Given the description of an element on the screen output the (x, y) to click on. 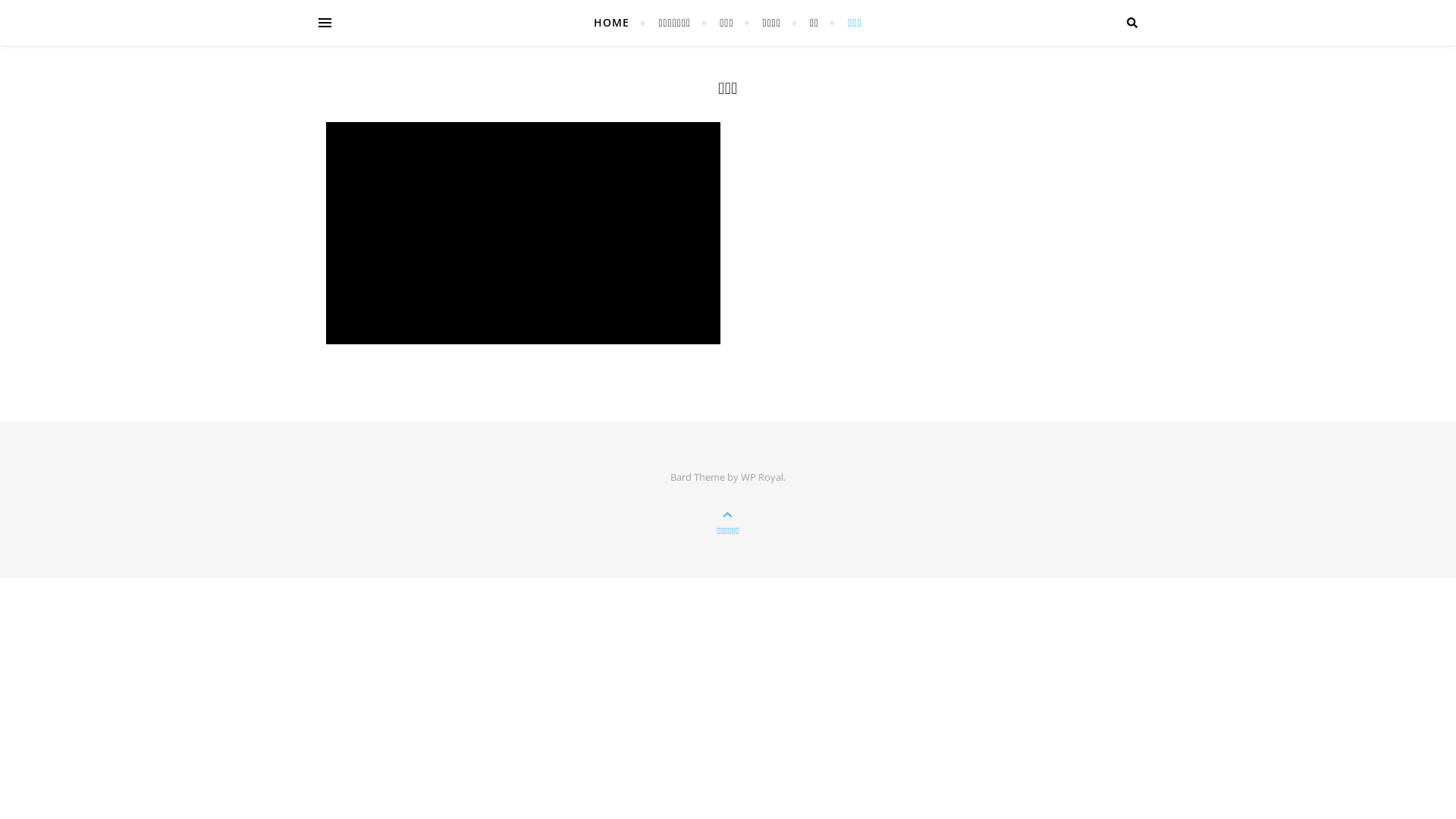
WP Royal Element type: text (761, 476)
HOME Element type: text (617, 22)
